Given the description of an element on the screen output the (x, y) to click on. 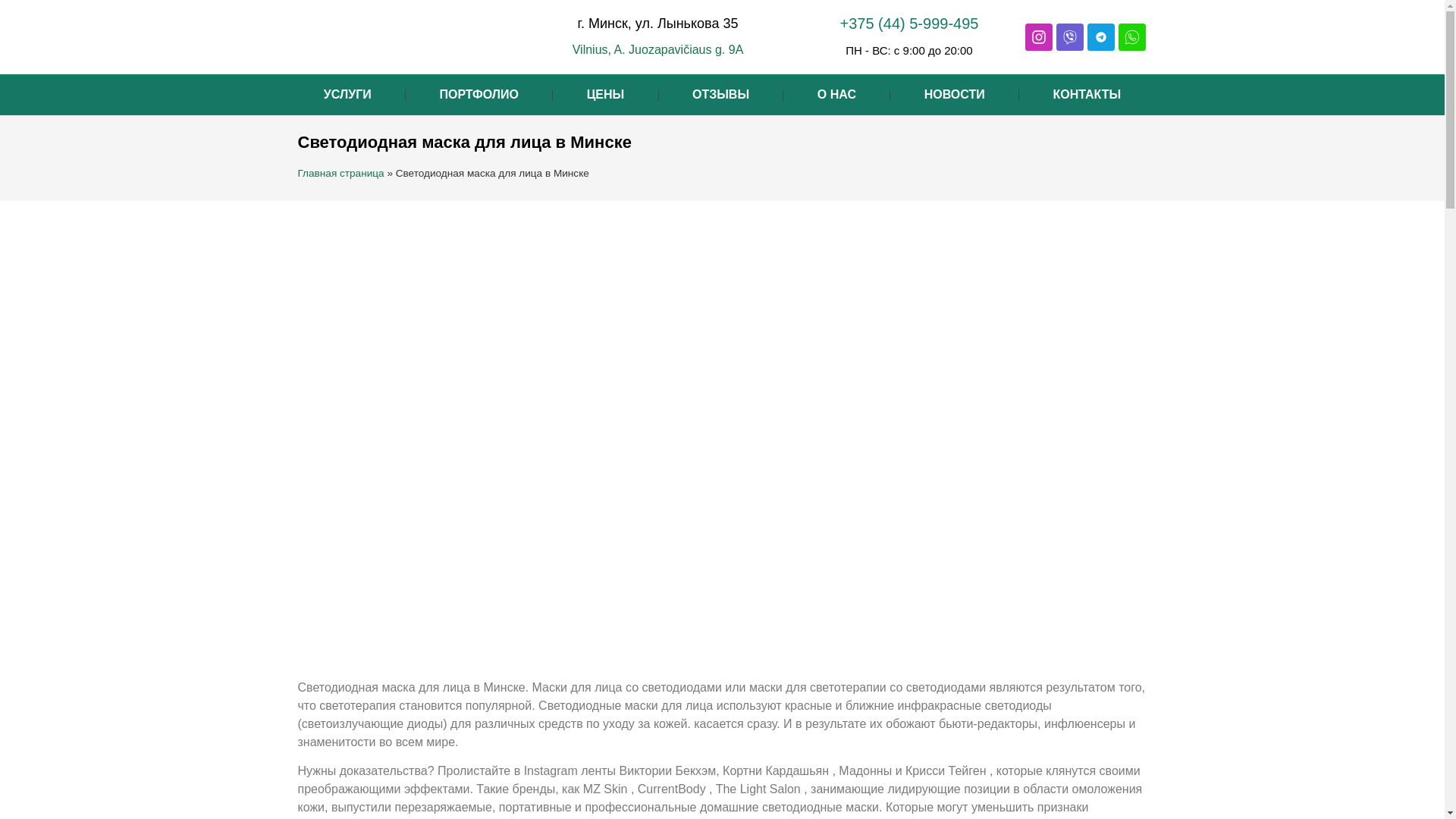
+375 (44) 5-999-495 Element type: text (909, 23)
